Given the description of an element on the screen output the (x, y) to click on. 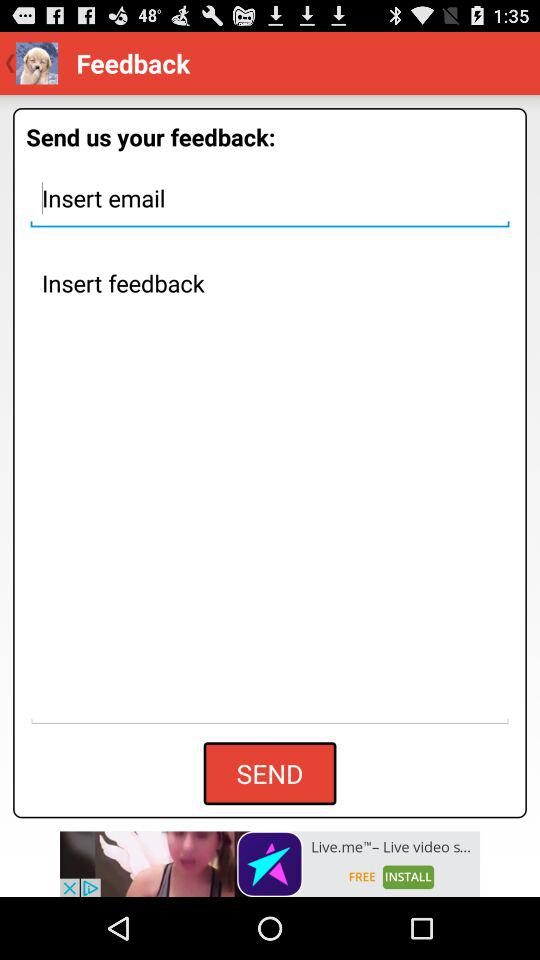
open advertisement (270, 864)
